Given the description of an element on the screen output the (x, y) to click on. 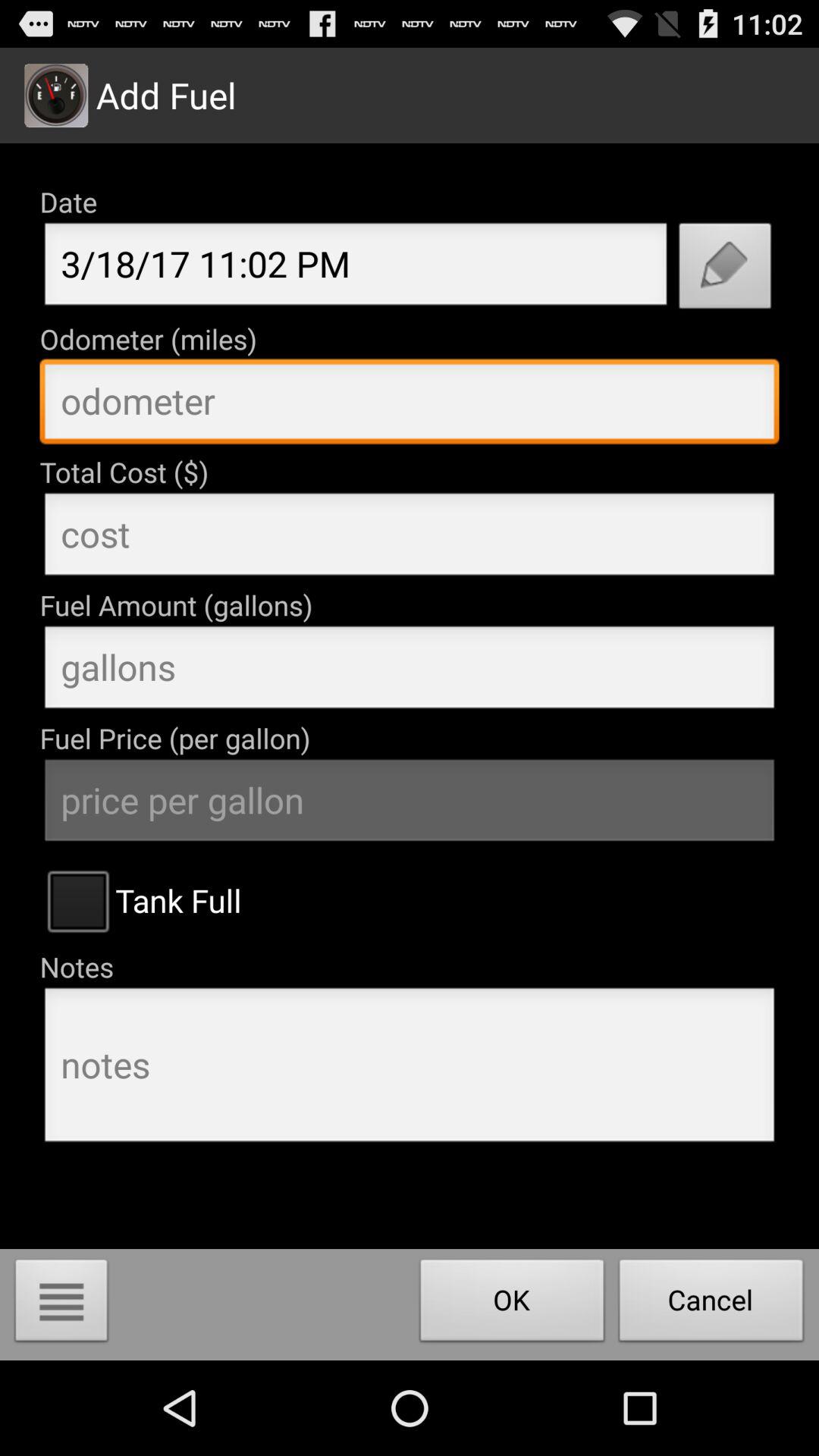
insert fuel ammount (409, 671)
